Given the description of an element on the screen output the (x, y) to click on. 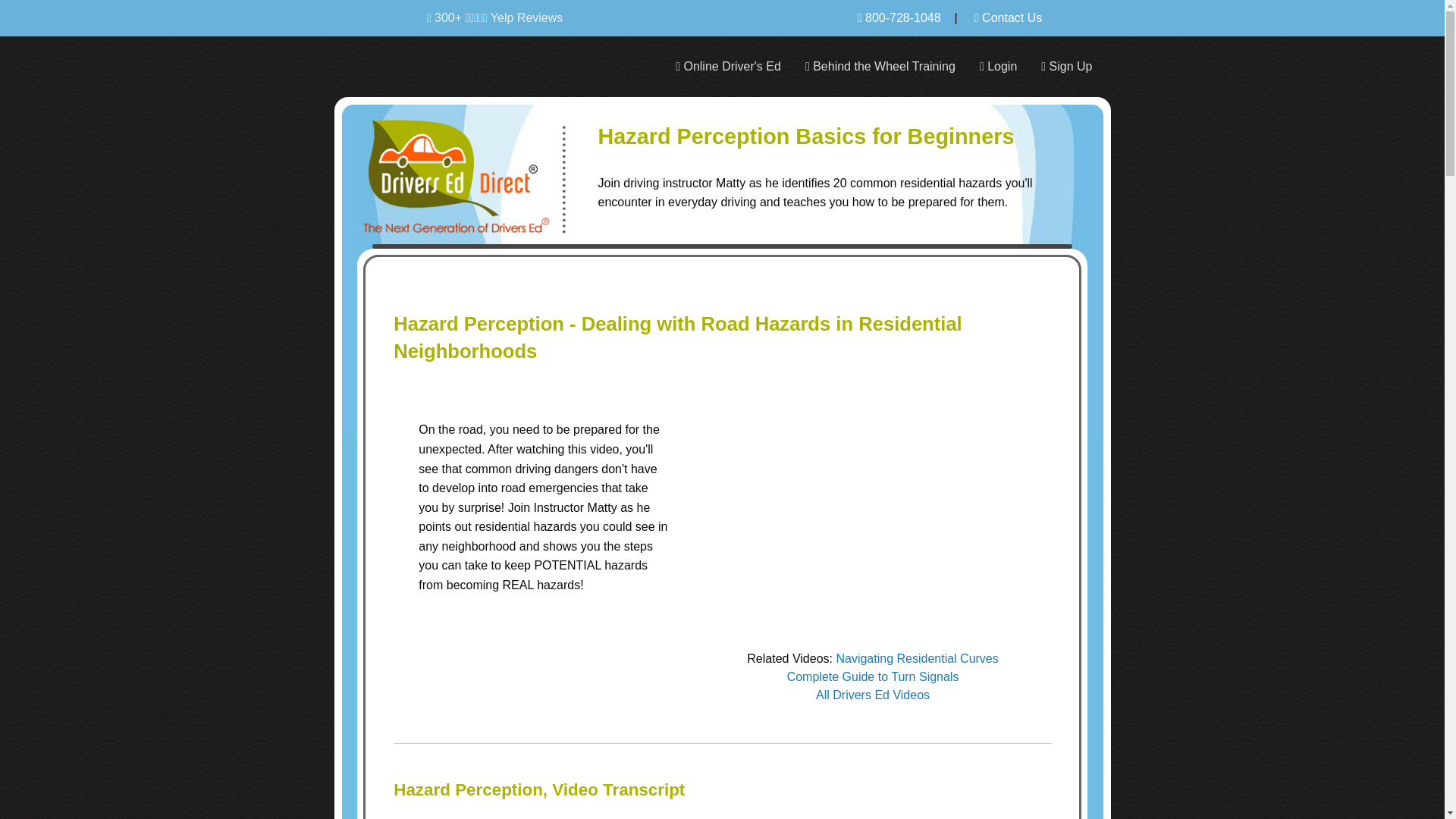
Login (998, 66)
Online Driver's Ed (728, 66)
Call Drivers Ed Direct (898, 17)
Online Drivers Ed (728, 66)
Official Drivers Ed Direct Website (473, 168)
Navigating Residential Curves (916, 658)
Contact Us (1008, 17)
Behind the Wheel Driving Lessons (880, 66)
Complete Guide to Turn Signals (873, 676)
YouTube video player (872, 509)
Email Drivers Ed Direct (1008, 17)
Behind the Wheel Training (880, 66)
Drivers Ed Videos (872, 694)
Sign Up for a Course Today (1066, 66)
All Drivers Ed Videos (872, 694)
